Given the description of an element on the screen output the (x, y) to click on. 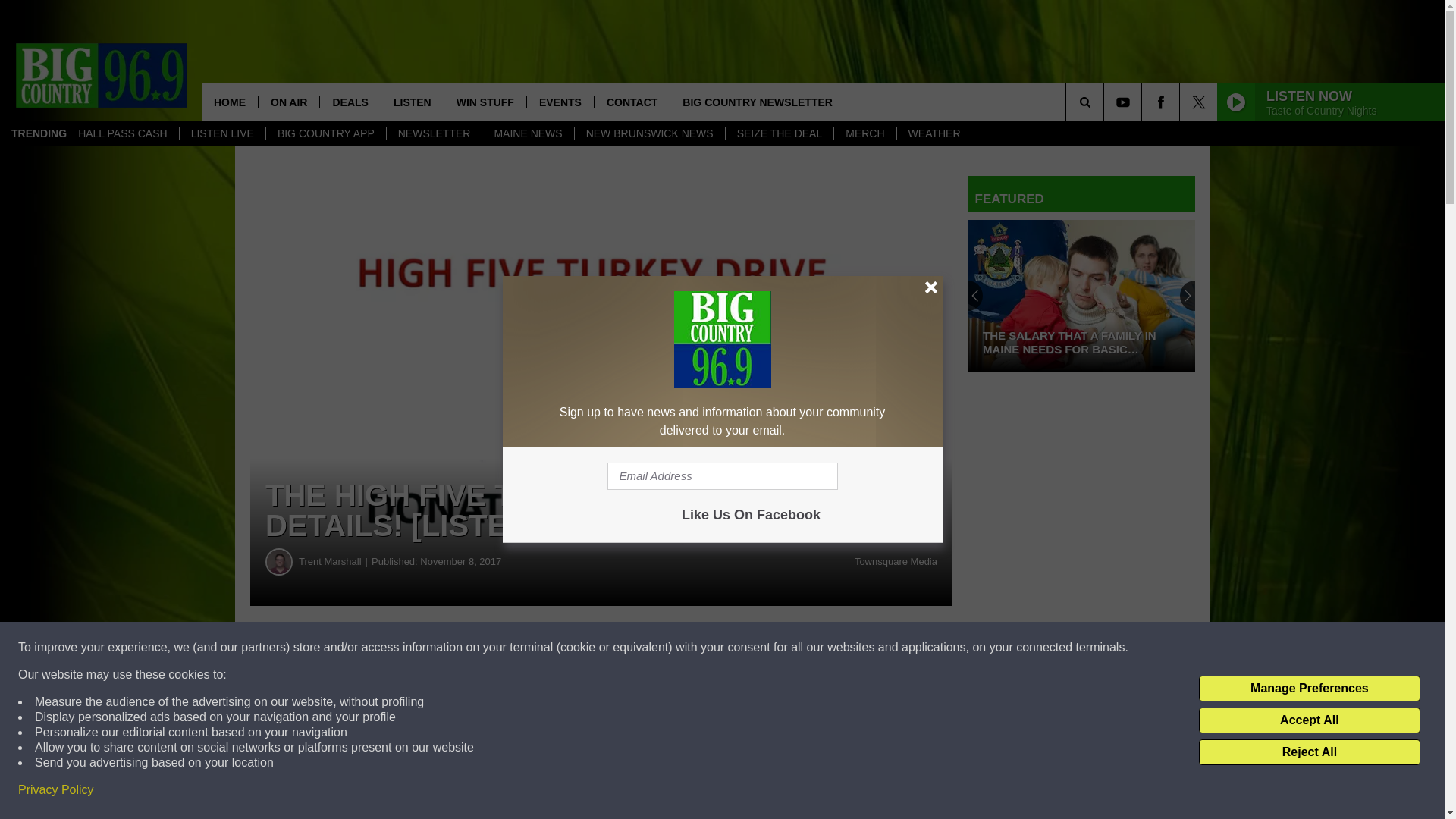
Reject All (1309, 751)
HOME (229, 102)
Privacy Policy (55, 789)
Accept All (1309, 720)
LISTEN (412, 102)
LISTEN LIVE (221, 133)
DEALS (349, 102)
Share on Facebook (460, 647)
EVENTS (559, 102)
MERCH (863, 133)
Email Address (722, 475)
WEATHER (934, 133)
MAINE NEWS (527, 133)
CONTACT (631, 102)
Share on Twitter (741, 647)
